Given the description of an element on the screen output the (x, y) to click on. 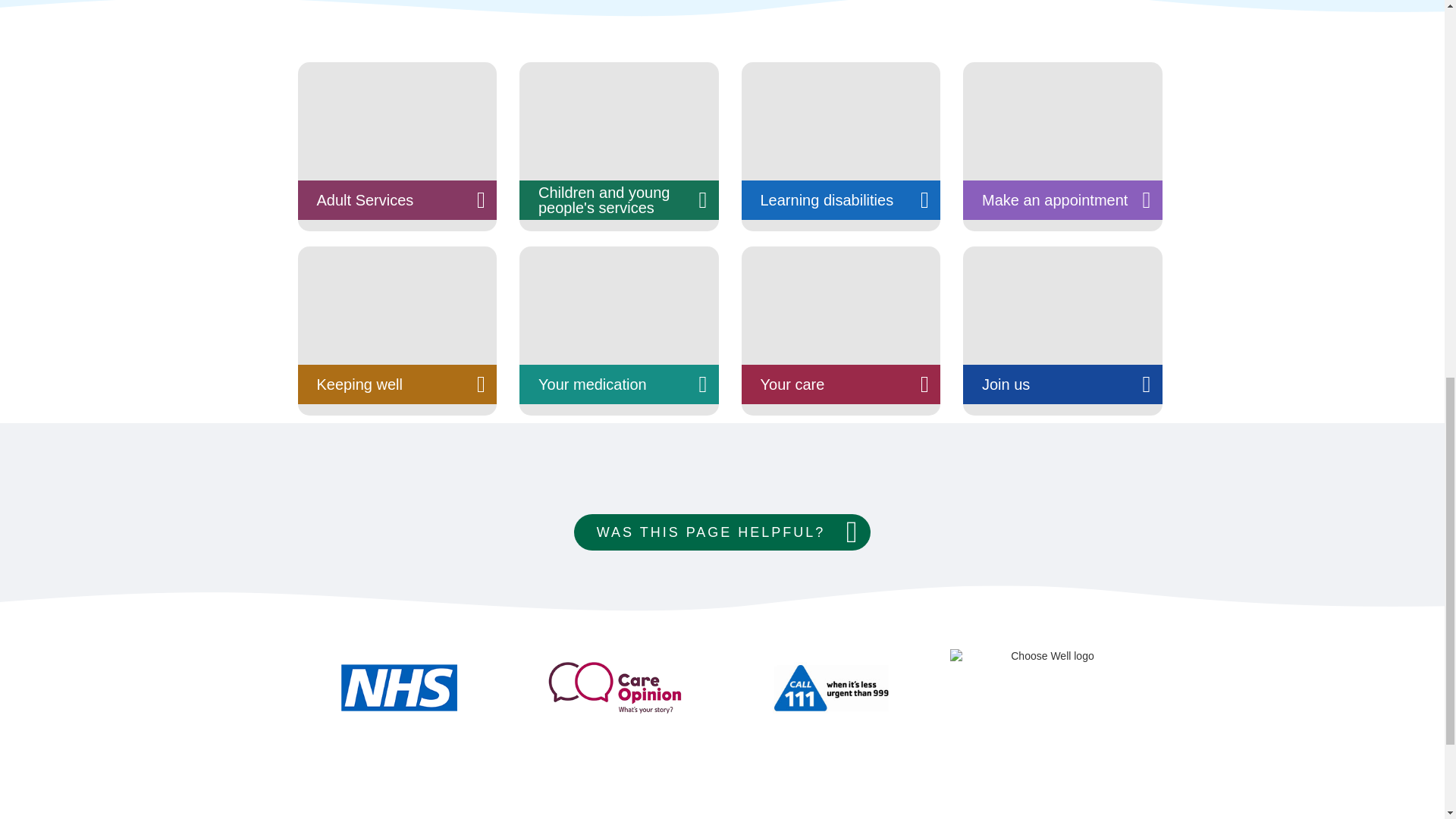
National Health Service (398, 687)
Care Opinion (613, 687)
Website Feedback (721, 532)
NHS 111 (830, 687)
